Given the description of an element on the screen output the (x, y) to click on. 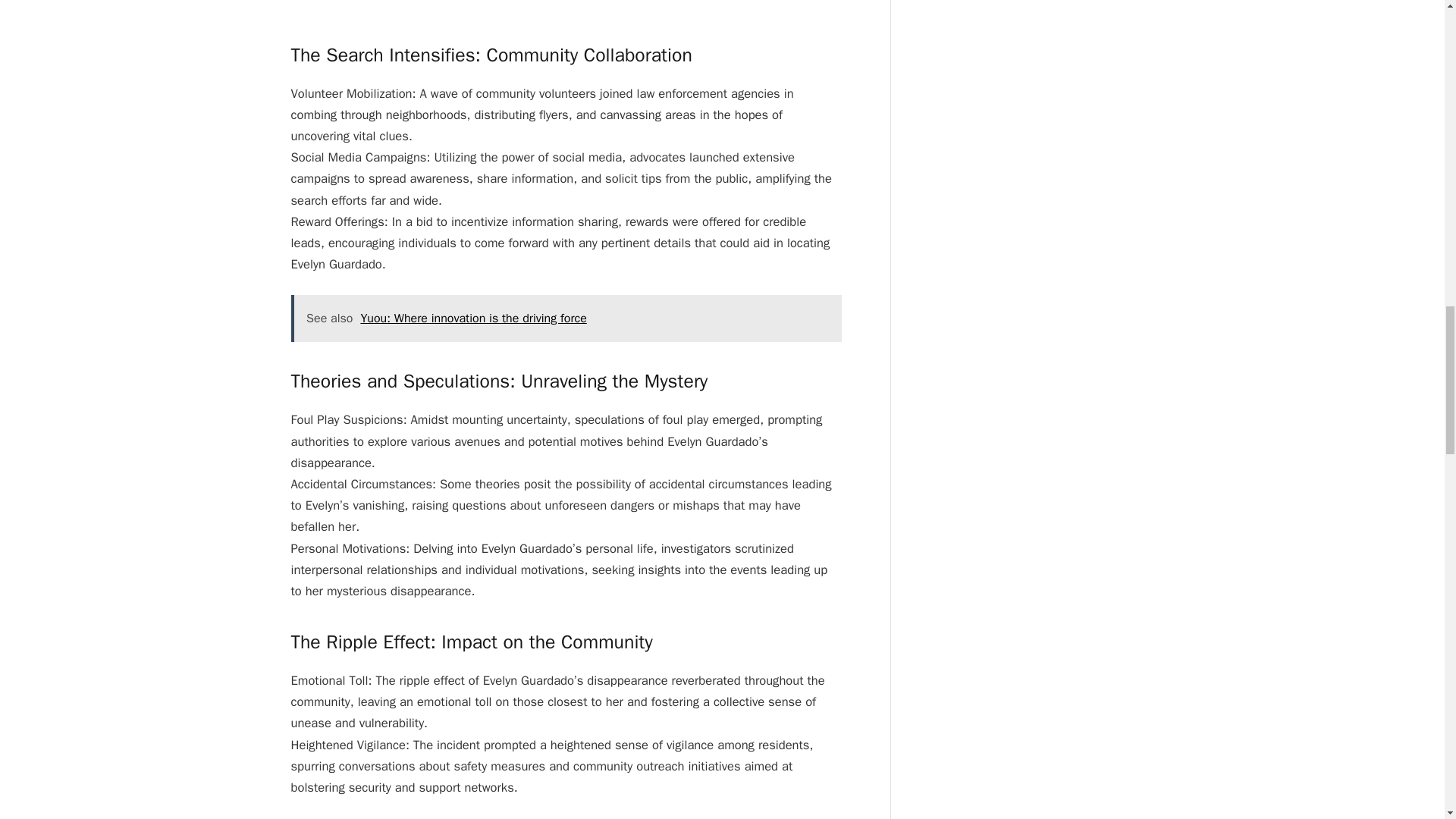
Advertisement (575, 4)
See also  Yuou: Where innovation is the driving force (566, 317)
